Given the description of an element on the screen output the (x, y) to click on. 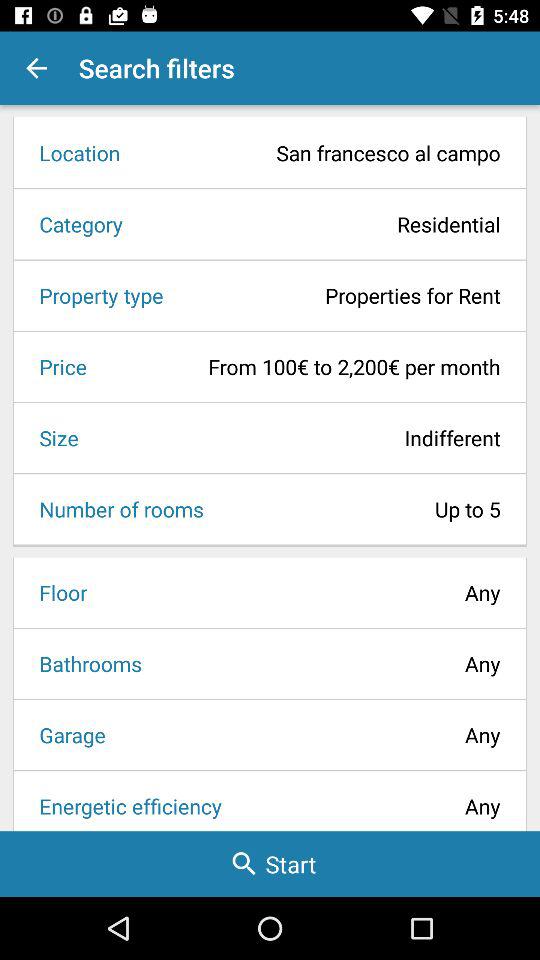
choose the item below the indifferent (358, 509)
